Given the description of an element on the screen output the (x, y) to click on. 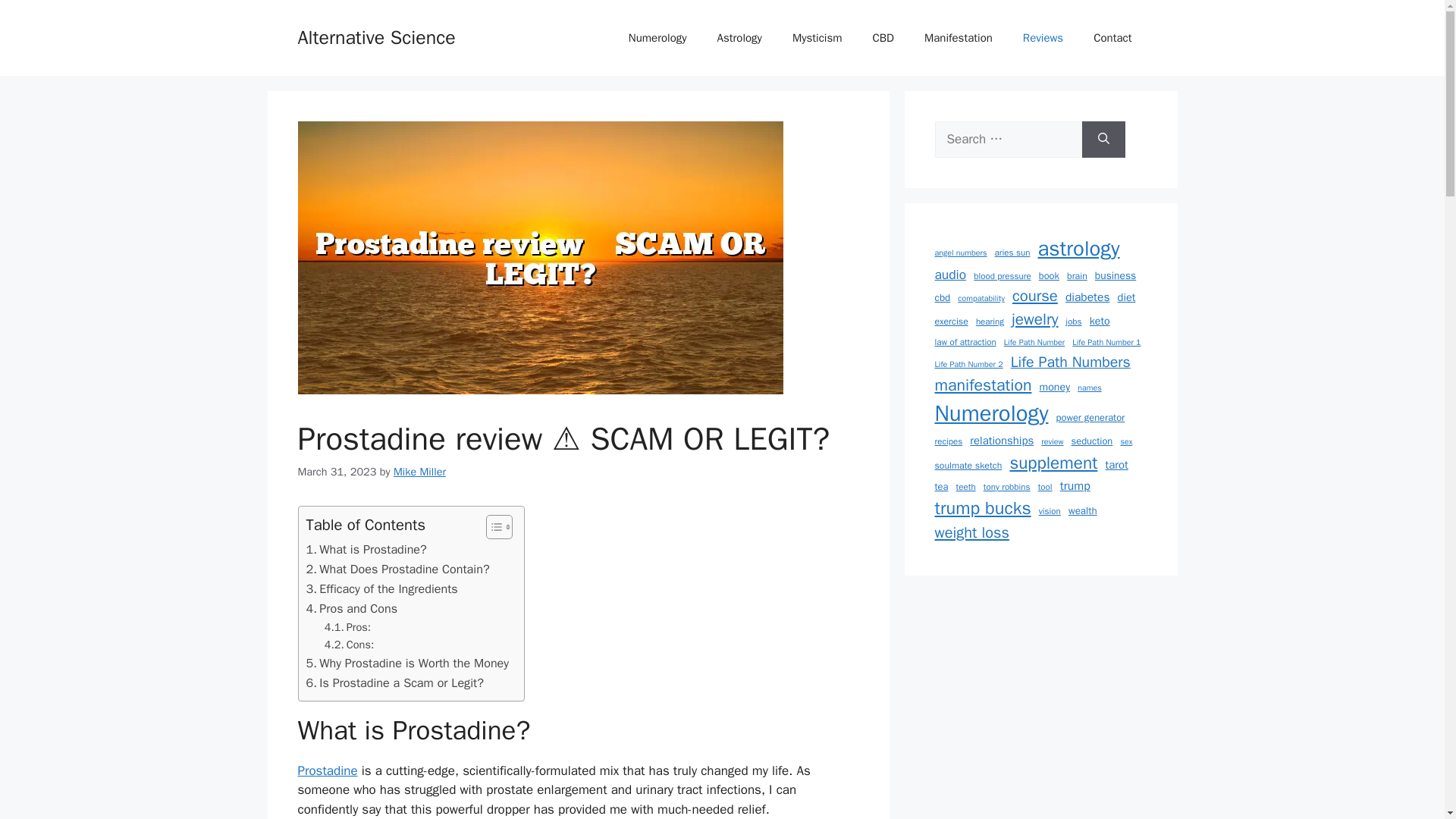
View all posts by Mike Miller (419, 471)
Numerology (656, 37)
Cons: (349, 644)
Pros: (347, 627)
Pros and Cons (351, 608)
audio (950, 274)
Contact (1112, 37)
What is Prostadine? (365, 549)
Cons: (349, 644)
Alternative Science (375, 37)
astrology (1077, 248)
What is Prostadine? (365, 549)
Prostadine (326, 770)
Is Prostadine a Scam or Legit? (394, 682)
Efficacy of the Ingredients (381, 588)
